Given the description of an element on the screen output the (x, y) to click on. 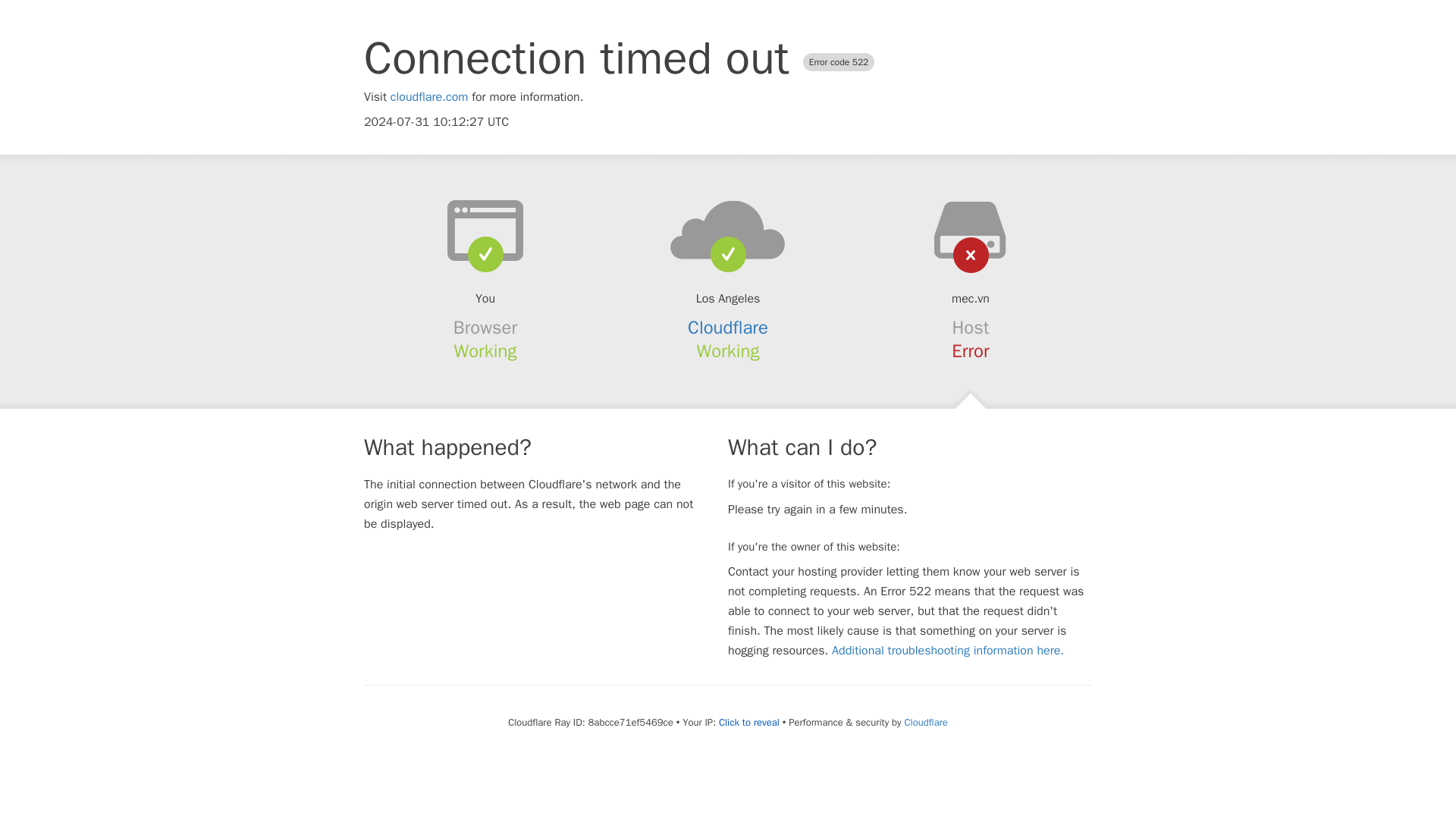
Cloudflare (925, 721)
Click to reveal (748, 722)
Cloudflare (727, 327)
cloudflare.com (429, 96)
Additional troubleshooting information here. (947, 650)
